Given the description of an element on the screen output the (x, y) to click on. 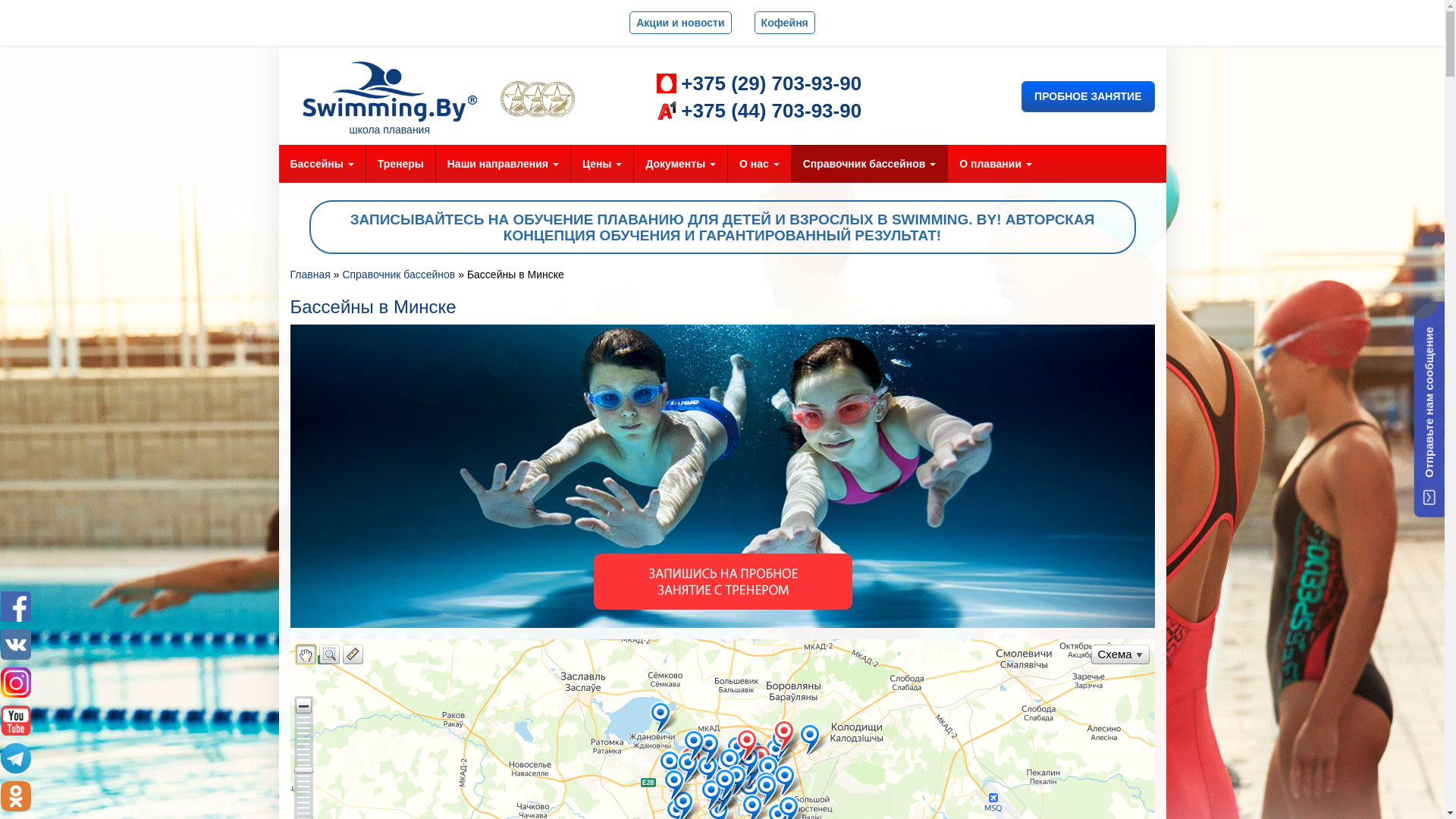
+375 (44) 703-93-90 Element type: text (758, 110)
Facebook Element type: hover (15, 606)
Instagram Element type: hover (15, 682)
+375 (29) 703-93-90 Element type: text (758, 83)
telegram Element type: hover (15, 758)
OK Element type: hover (15, 796)
youtube Element type: hover (15, 720)
